Given the description of an element on the screen output the (x, y) to click on. 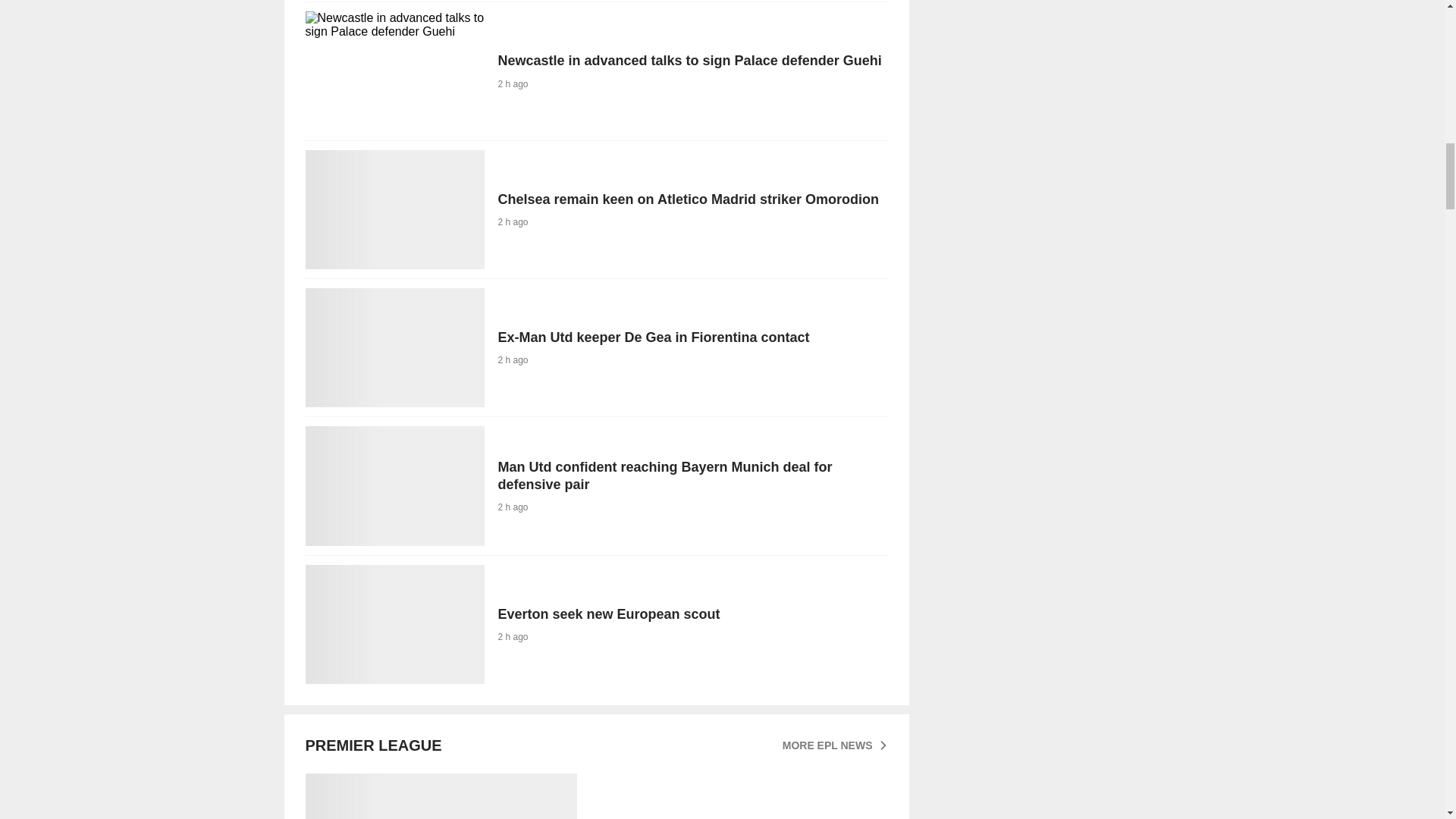
MORE EPL NEWS (595, 347)
